Given the description of an element on the screen output the (x, y) to click on. 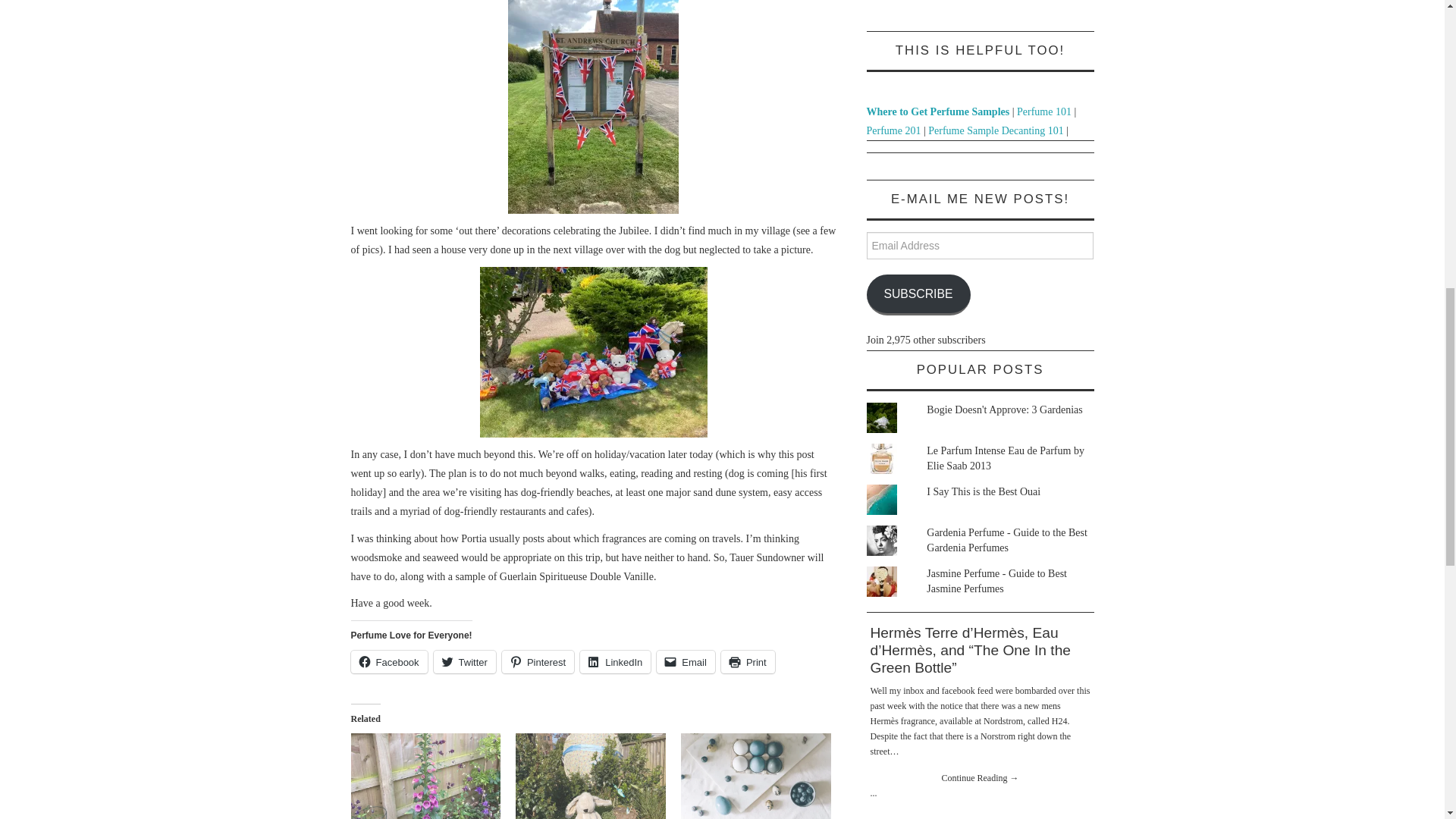
Le Parfum Intense Eau de Parfum by Elie Saab 2013 (1005, 458)
I Say This is the Best Ouai (983, 491)
Print (747, 661)
Four Things Bee (425, 776)
Egg-static? (590, 776)
Click to share on LinkedIn (614, 661)
Perfume 101 (1043, 111)
Click to share on Facebook (388, 661)
Click to email a link to a friend (685, 661)
A Holiday Weekend (756, 776)
Bogie Doesn't Approve: 3 Gardenias (1003, 409)
SUBSCRIBE (917, 294)
Twitter (464, 661)
Perfume Sample Decanting 101 (995, 130)
Email (685, 661)
